Given the description of an element on the screen output the (x, y) to click on. 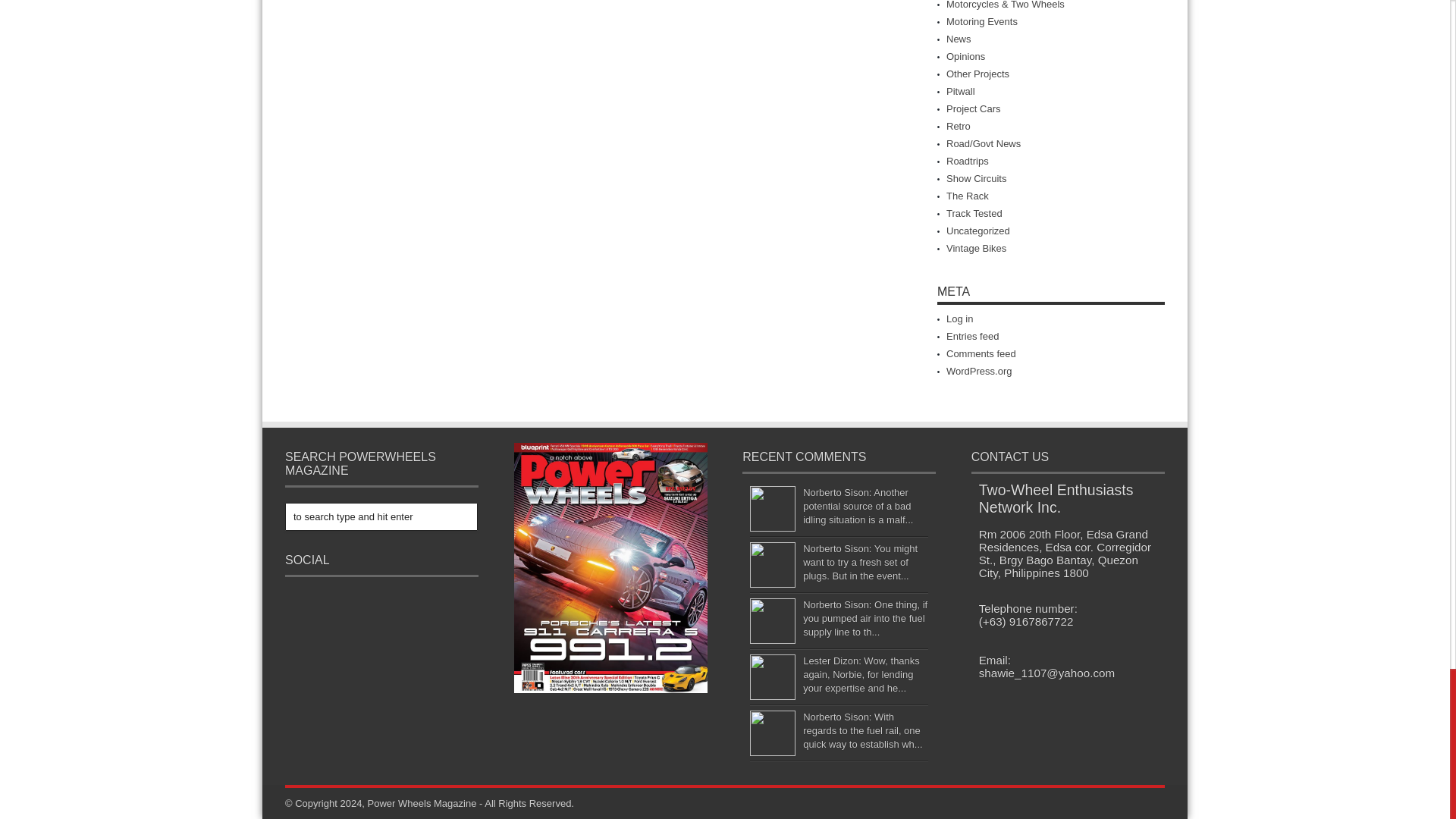
to search type and hit enter (381, 516)
